Given the description of an element on the screen output the (x, y) to click on. 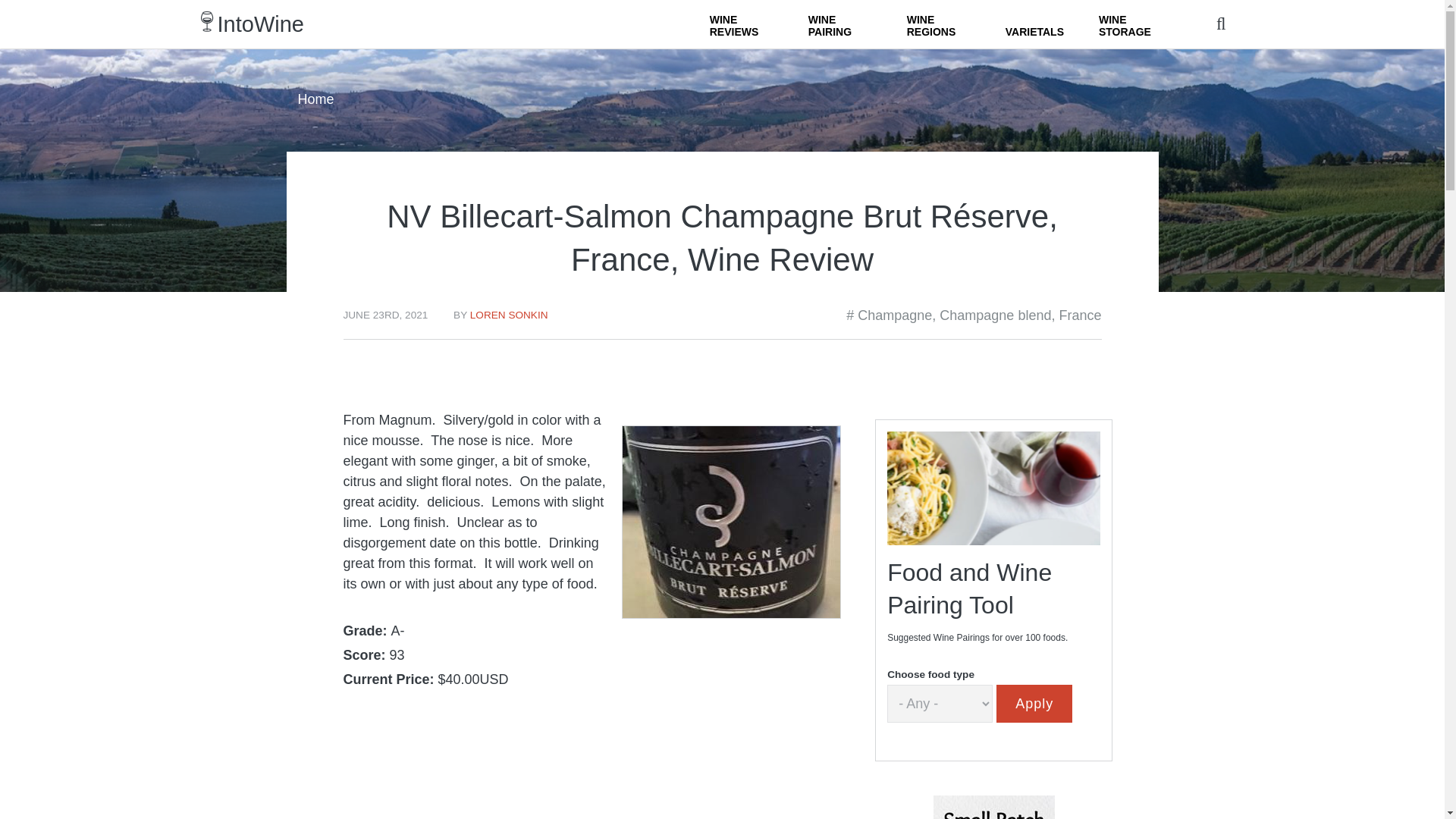
LOREN SONKIN (509, 315)
Wine Reviews (741, 24)
Home (206, 21)
WINE PAIRING (839, 24)
Home (260, 24)
Home (315, 99)
Varietals (1034, 24)
Champagne (894, 314)
Apply (1033, 703)
View user profile. (509, 315)
Champagne blend (995, 314)
WINE REVIEWS (741, 24)
Wine Storage (1130, 24)
VARIETALS (1034, 24)
